Given the description of an element on the screen output the (x, y) to click on. 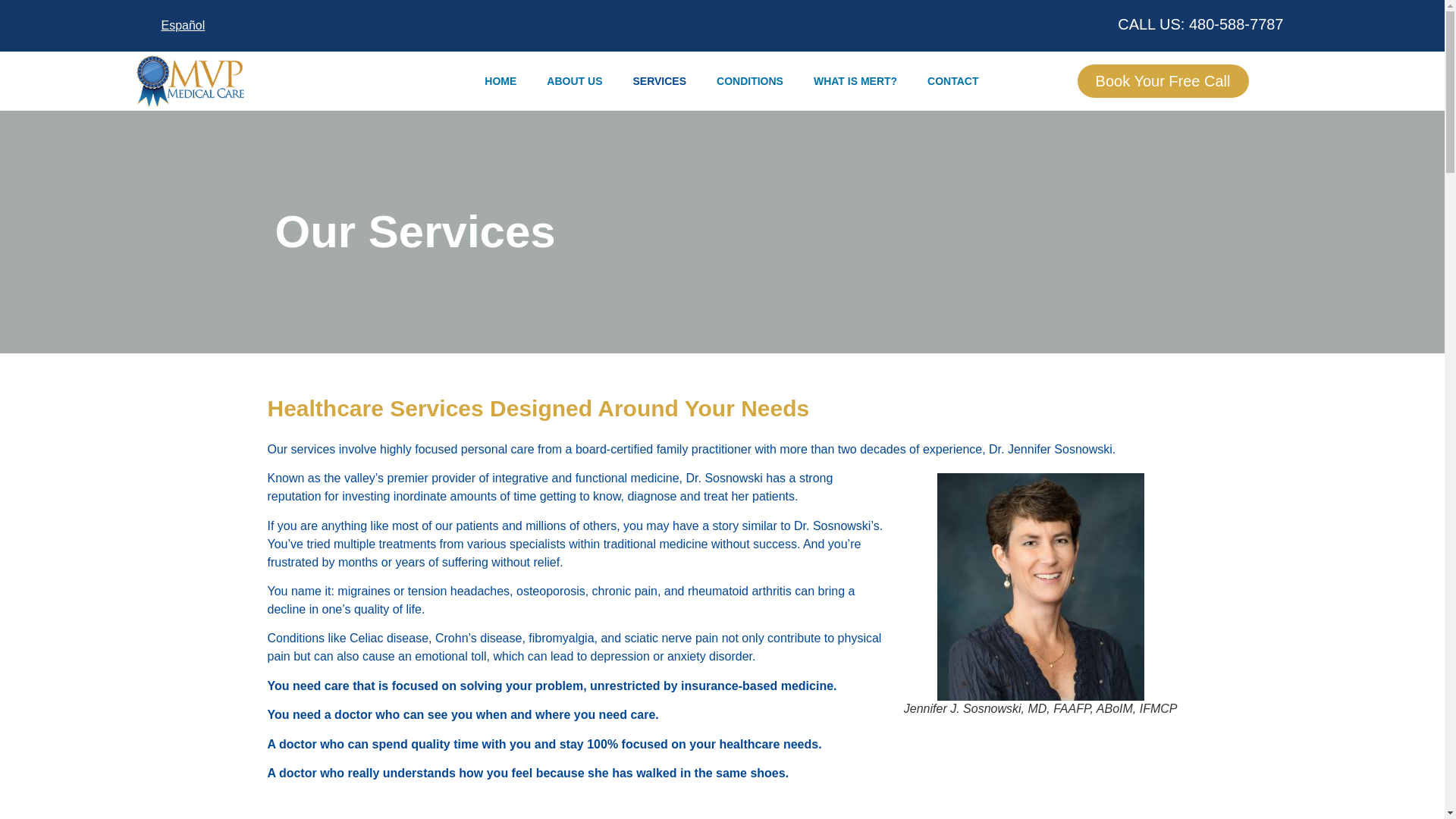
SERVICES (659, 80)
CONDITIONS (749, 80)
ABOUT US (574, 80)
CONTACT (952, 80)
WHAT IS MERT? (854, 80)
HOME (499, 80)
